Given the description of an element on the screen output the (x, y) to click on. 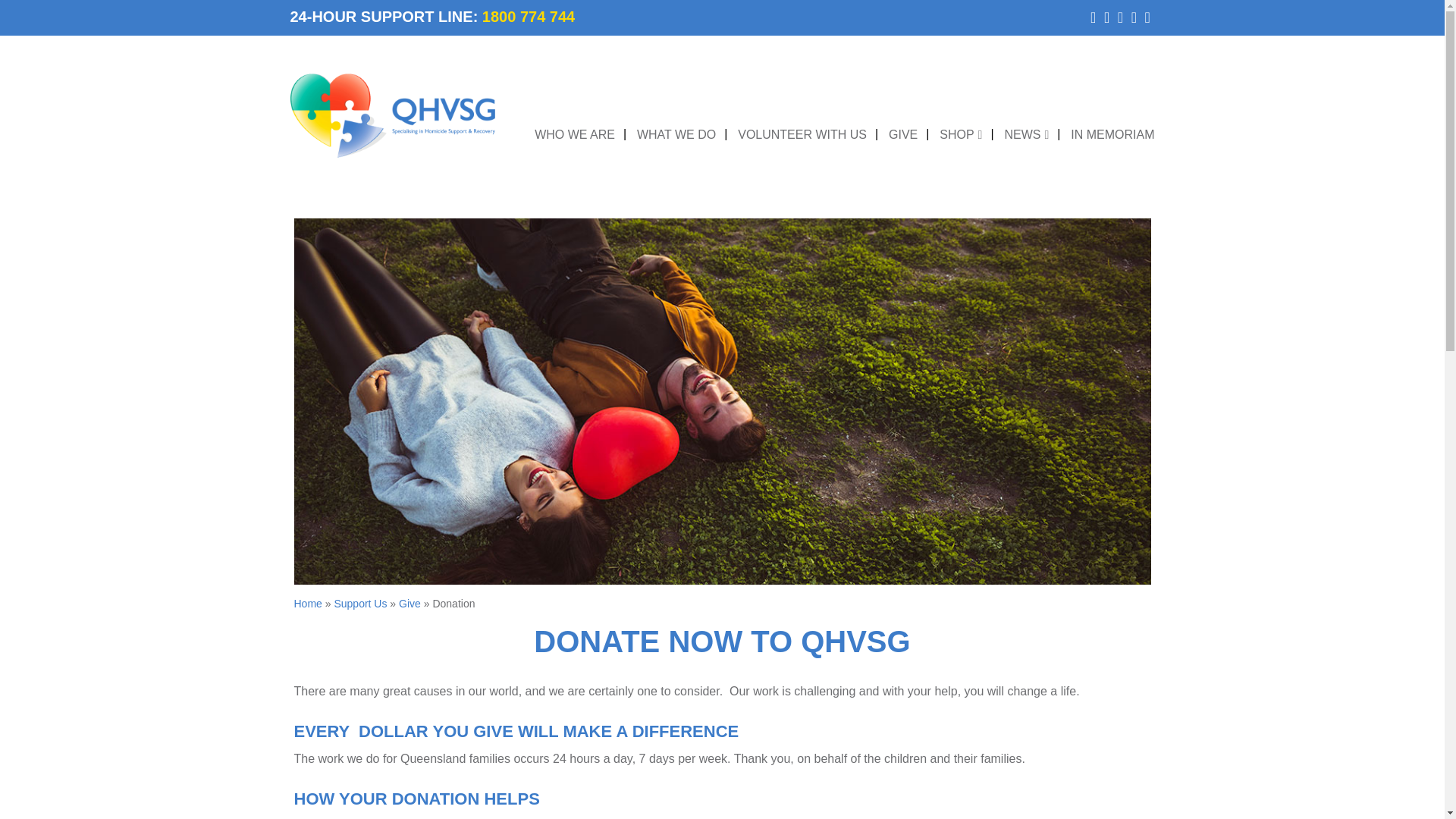
IN MEMORIAM (1112, 134)
Go to QHVSG. (307, 603)
Give (409, 603)
Go to Support Us. (360, 603)
SHOP (960, 135)
GIVE (902, 134)
Go to Give. (409, 603)
Home (307, 603)
1800 774 744 (528, 16)
NEWS (1026, 135)
